Given the description of an element on the screen output the (x, y) to click on. 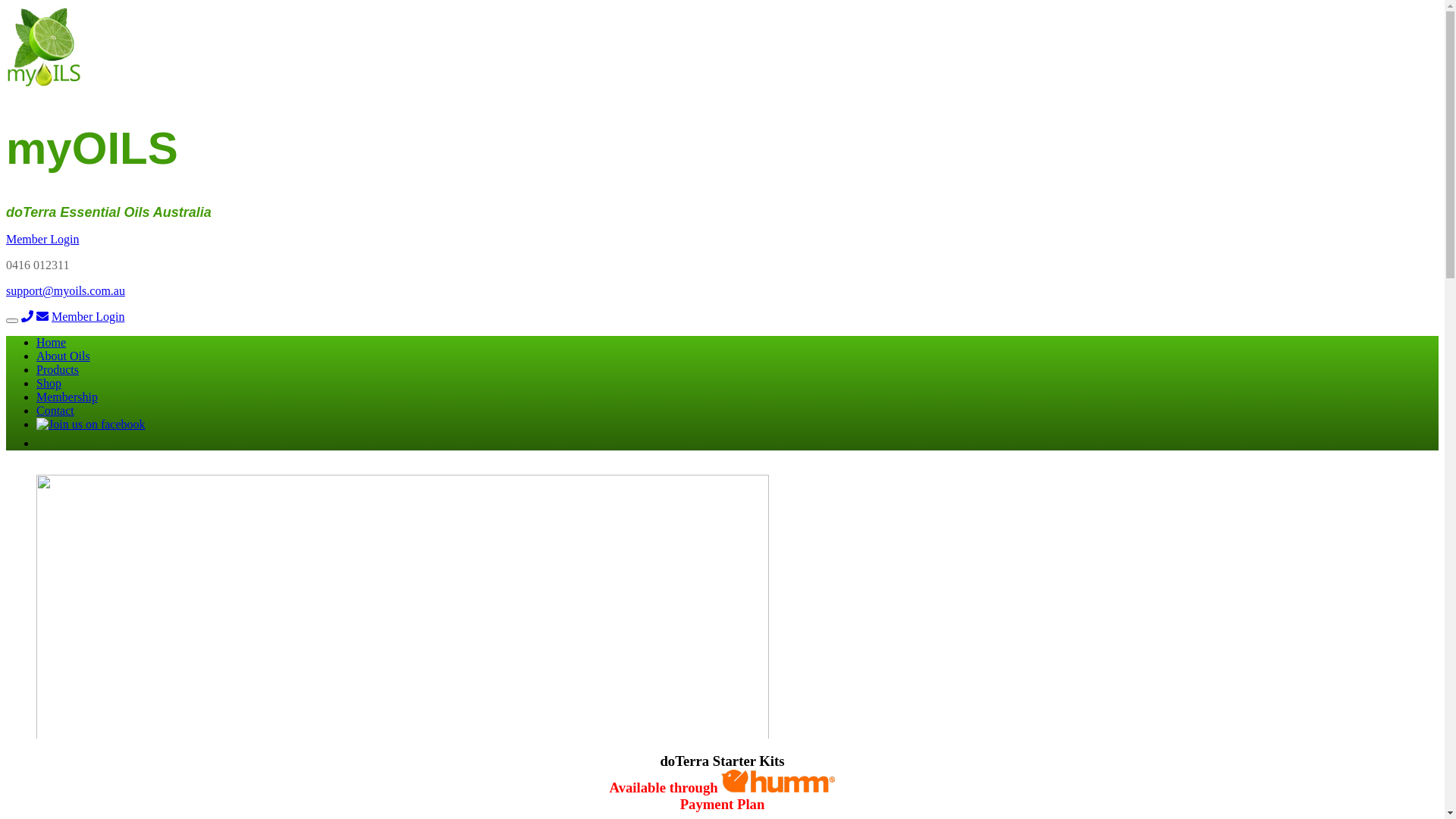
Member Login Element type: text (87, 316)
support@myoils.com.au Element type: text (65, 290)
Shop Element type: text (48, 382)
Contact Element type: text (55, 410)
Membership Element type: text (66, 396)
About Oils Element type: text (63, 355)
Member Login Element type: text (42, 238)
Join us on Facebook Element type: hover (90, 424)
Products Element type: text (57, 369)
Interest and Fee Free Element type: hover (777, 780)
Home Element type: text (50, 341)
doTerra Starter Kits
Available through
Payment Plan Element type: text (722, 782)
